Given the description of an element on the screen output the (x, y) to click on. 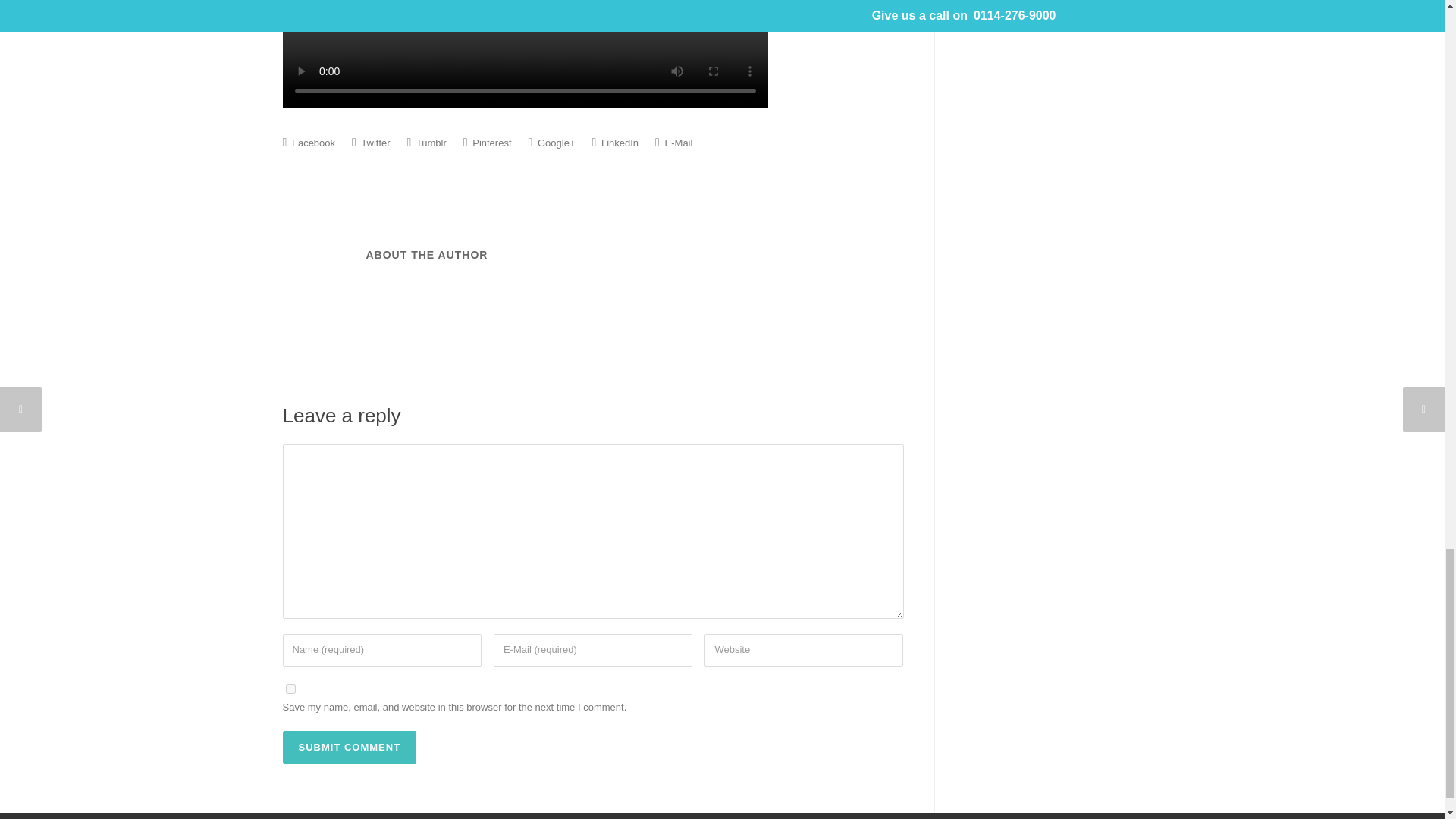
Share via Facebook (308, 142)
Share via LinkedIn (615, 142)
Share via Twitter (371, 142)
Share via Tumblr (426, 142)
Share via Pinterest (487, 142)
Submit Comment (349, 747)
yes (290, 688)
Share via E-Mail (674, 142)
Website (803, 649)
